Given the description of an element on the screen output the (x, y) to click on. 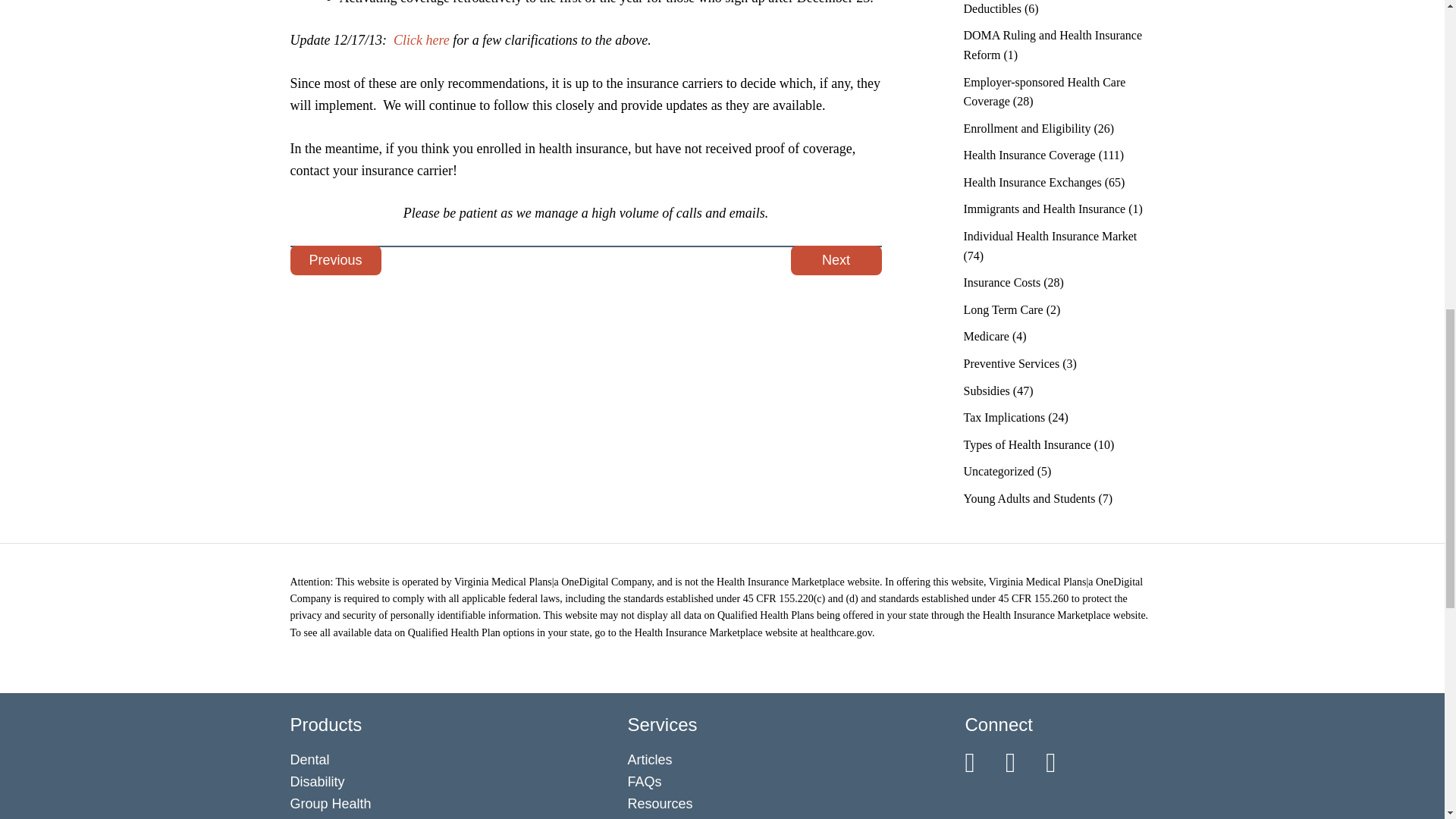
Next (835, 260)
Click here (421, 39)
Previous (334, 260)
